Given the description of an element on the screen output the (x, y) to click on. 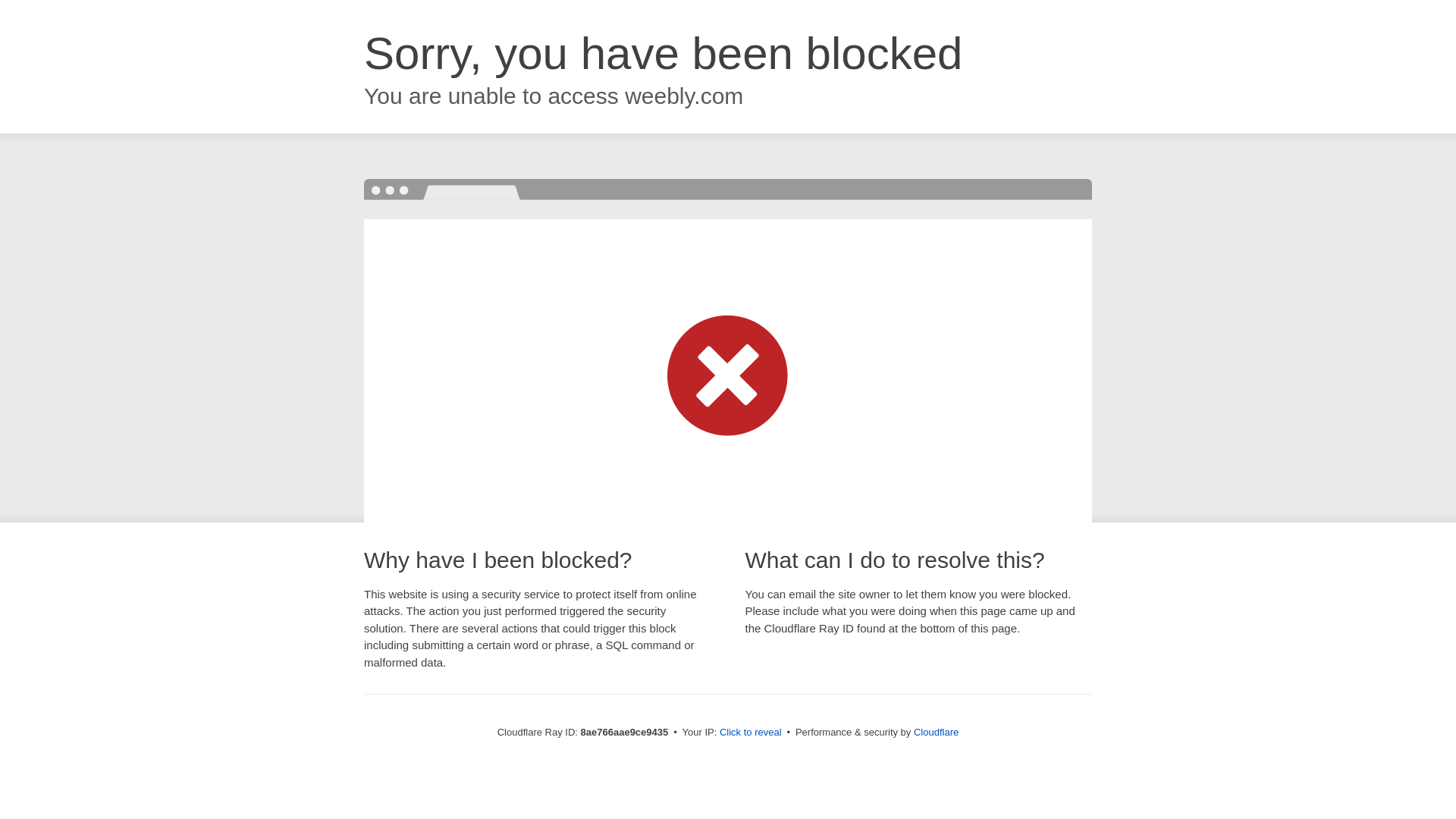
Click to reveal (750, 732)
Cloudflare (936, 731)
